Given the description of an element on the screen output the (x, y) to click on. 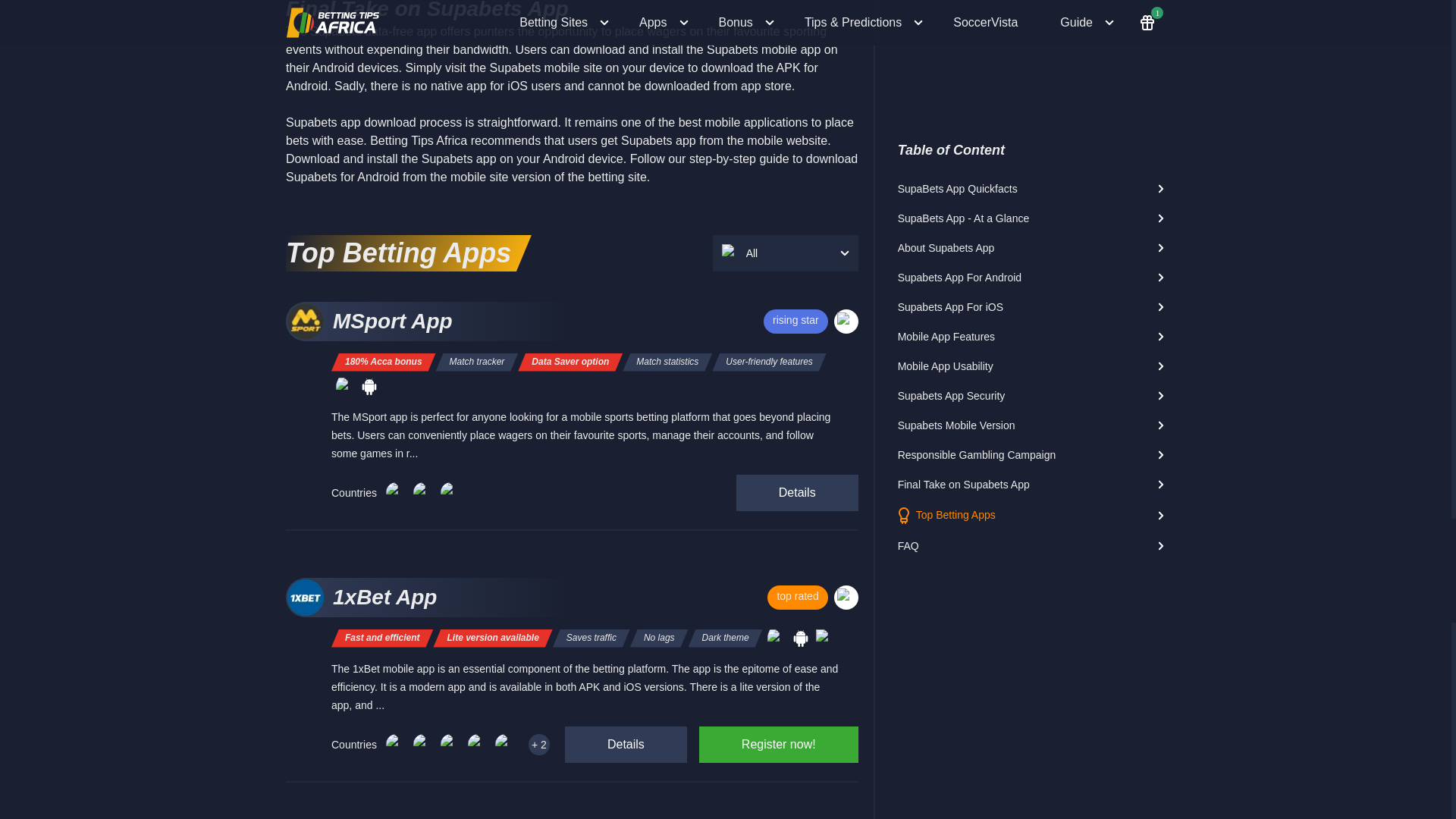
Register now! (778, 744)
1xBet App (446, 596)
Details (625, 744)
MSport App (446, 320)
All (786, 253)
Details (797, 493)
